Given the description of an element on the screen output the (x, y) to click on. 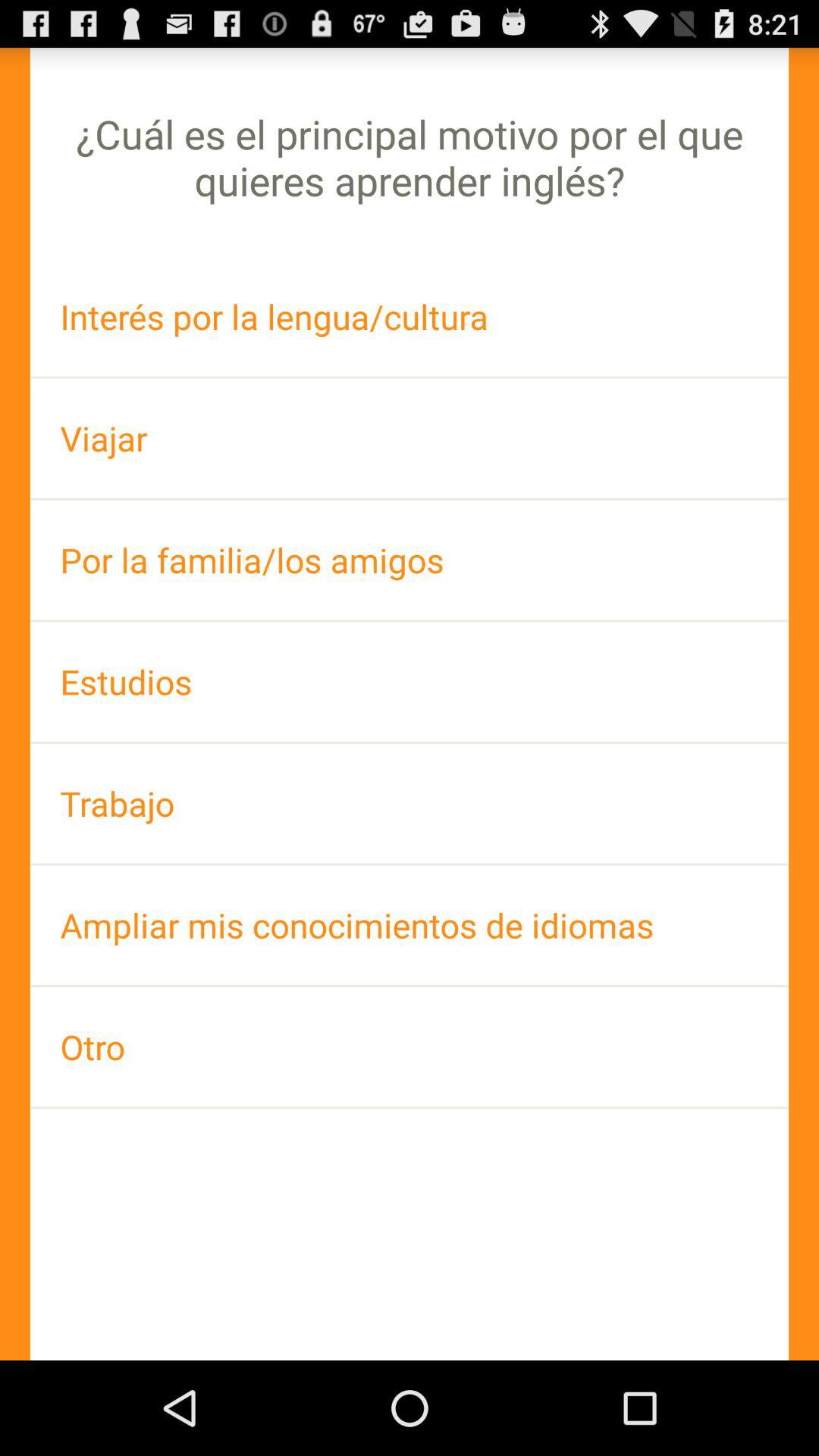
jump to the ampliar mis conocimientos item (409, 925)
